Given the description of an element on the screen output the (x, y) to click on. 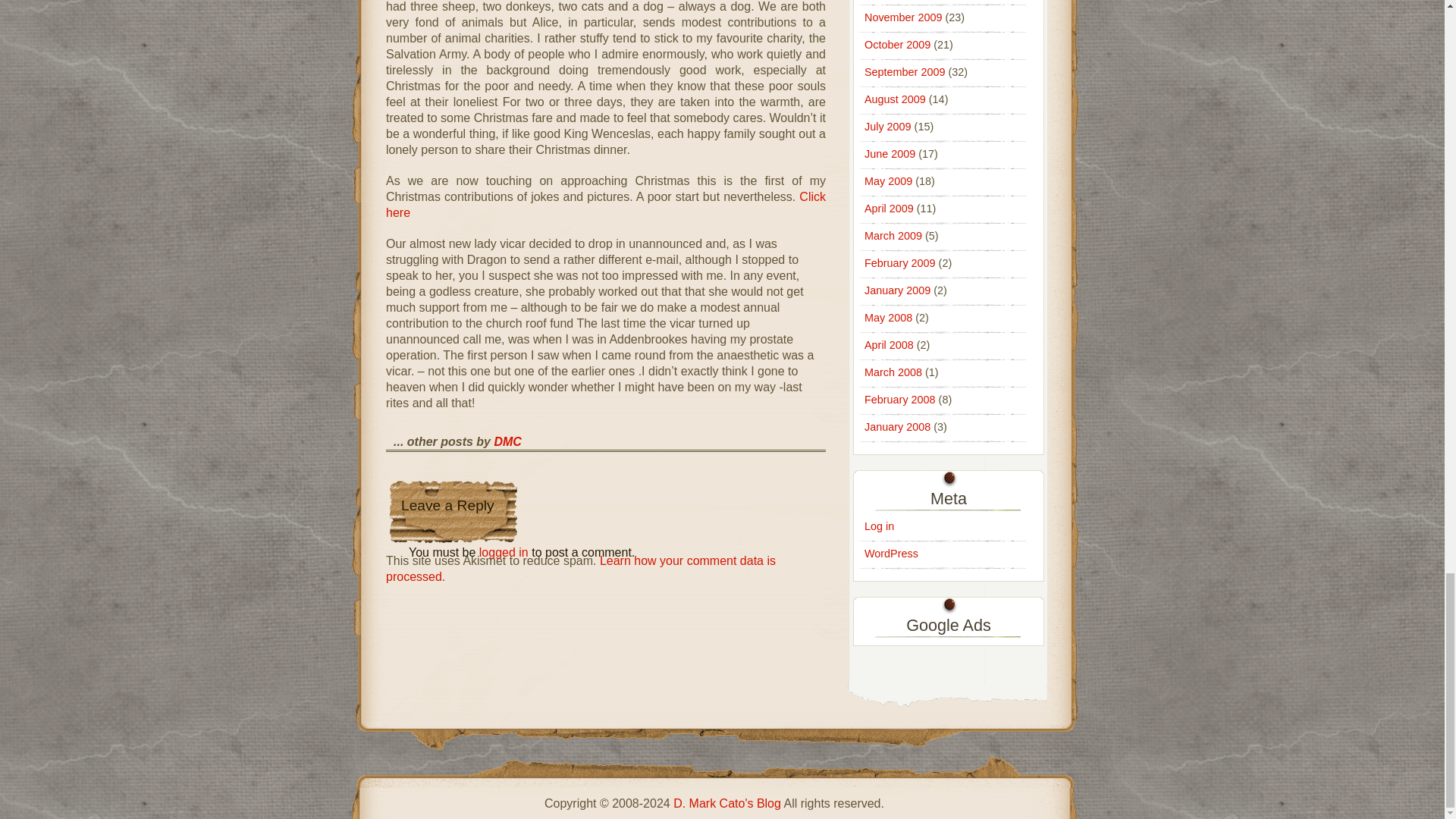
DMC (507, 440)
logged in (503, 552)
Click here (605, 204)
Powered by WordPress. (891, 553)
D. Mark Cato's Blog (726, 802)
Learn how your comment data is processed (580, 568)
